Given the description of an element on the screen output the (x, y) to click on. 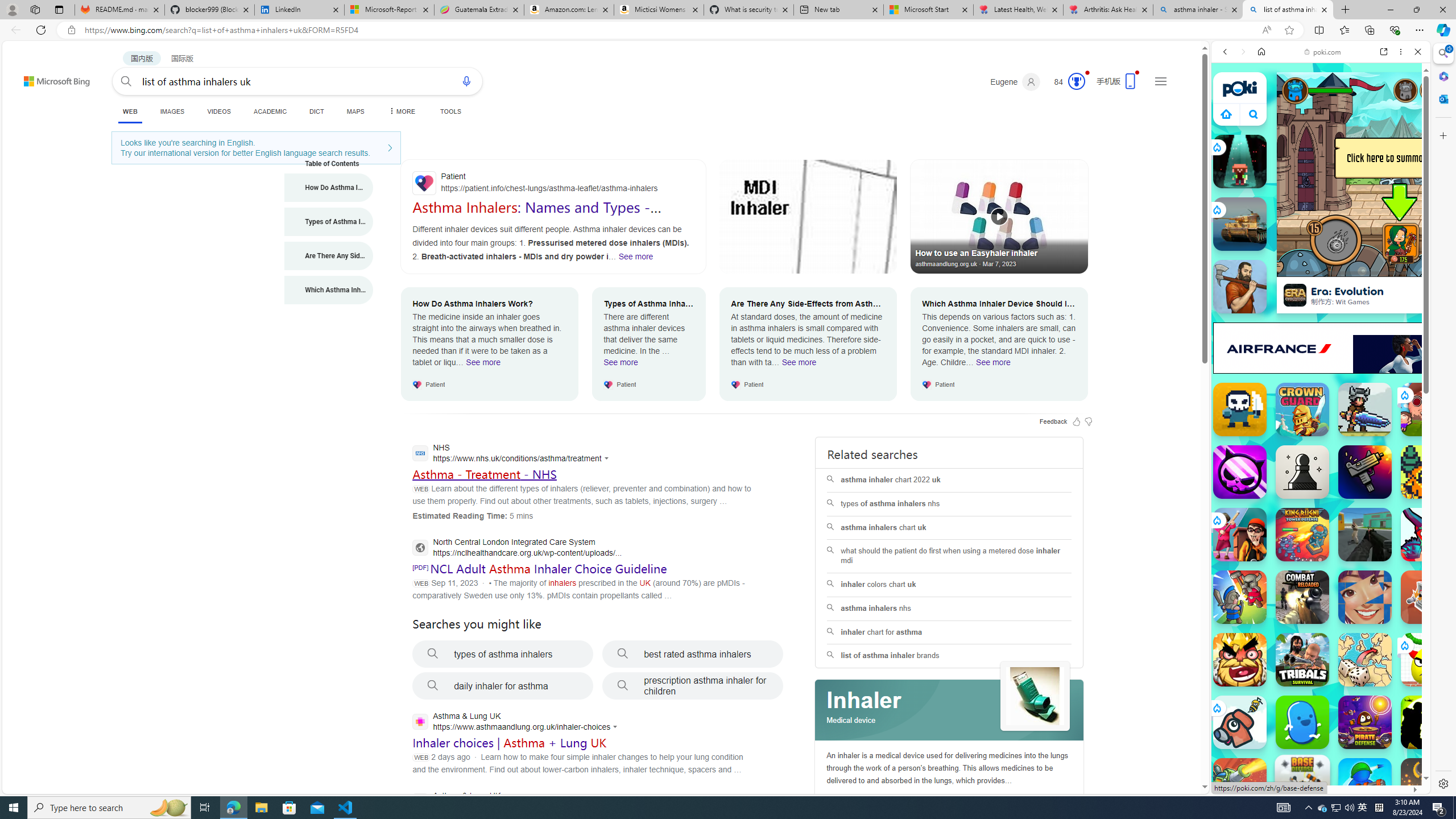
inhaler chart for asthma (949, 632)
Jigsaw Gems (1364, 597)
Tiger Tank Tiger Tank (1239, 223)
Estimated Reading Time: 5 mins (472, 515)
Microsoft Rewards 84 (1065, 81)
Island Odyssey: Return of the Sea (1427, 471)
NHS (513, 454)
Show More Shooting Games (1390, 296)
Search using voice (465, 80)
